Given the description of an element on the screen output the (x, y) to click on. 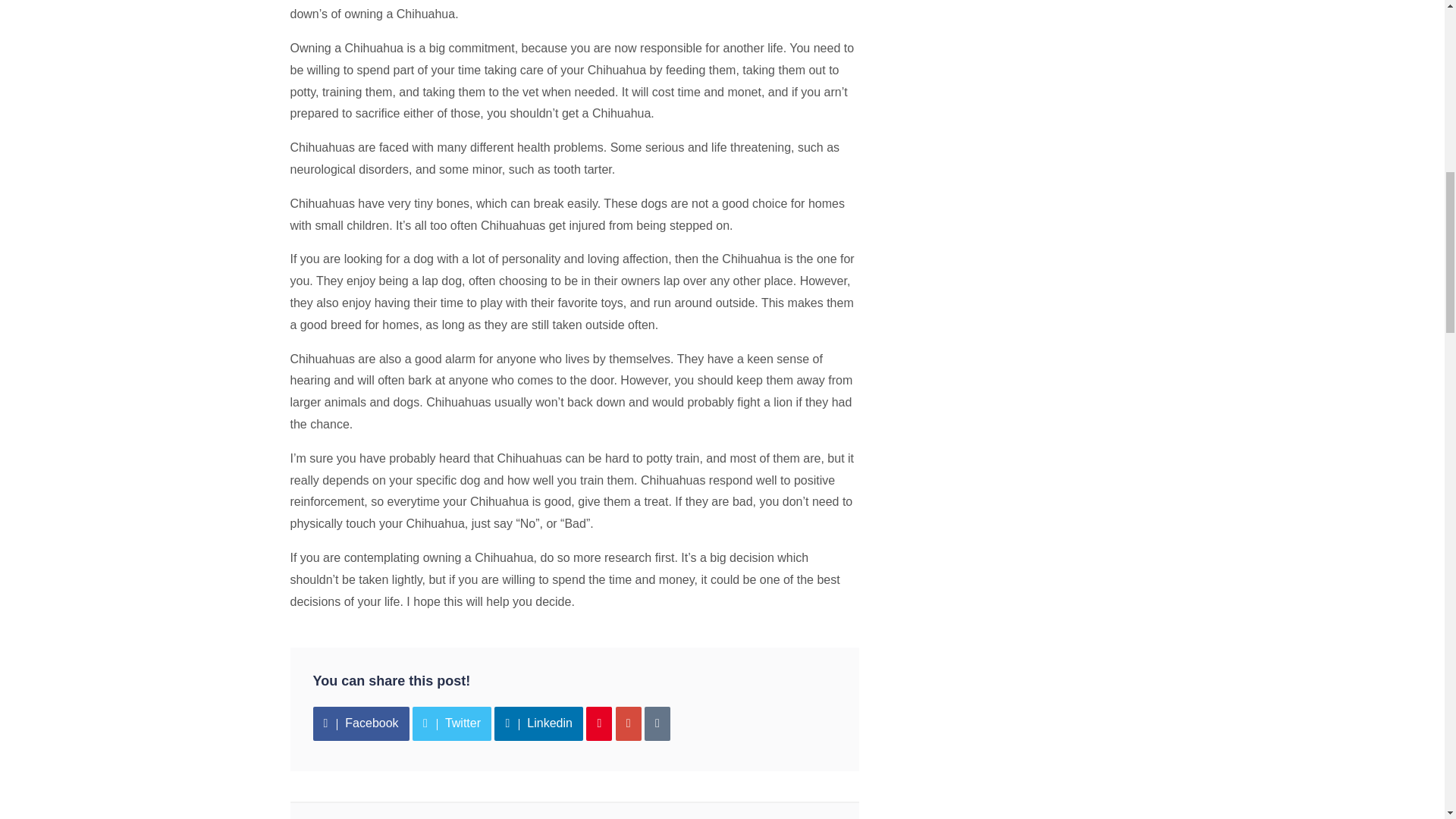
Facebook (361, 723)
Linkedin (538, 723)
Twitter (452, 723)
